Given the description of an element on the screen output the (x, y) to click on. 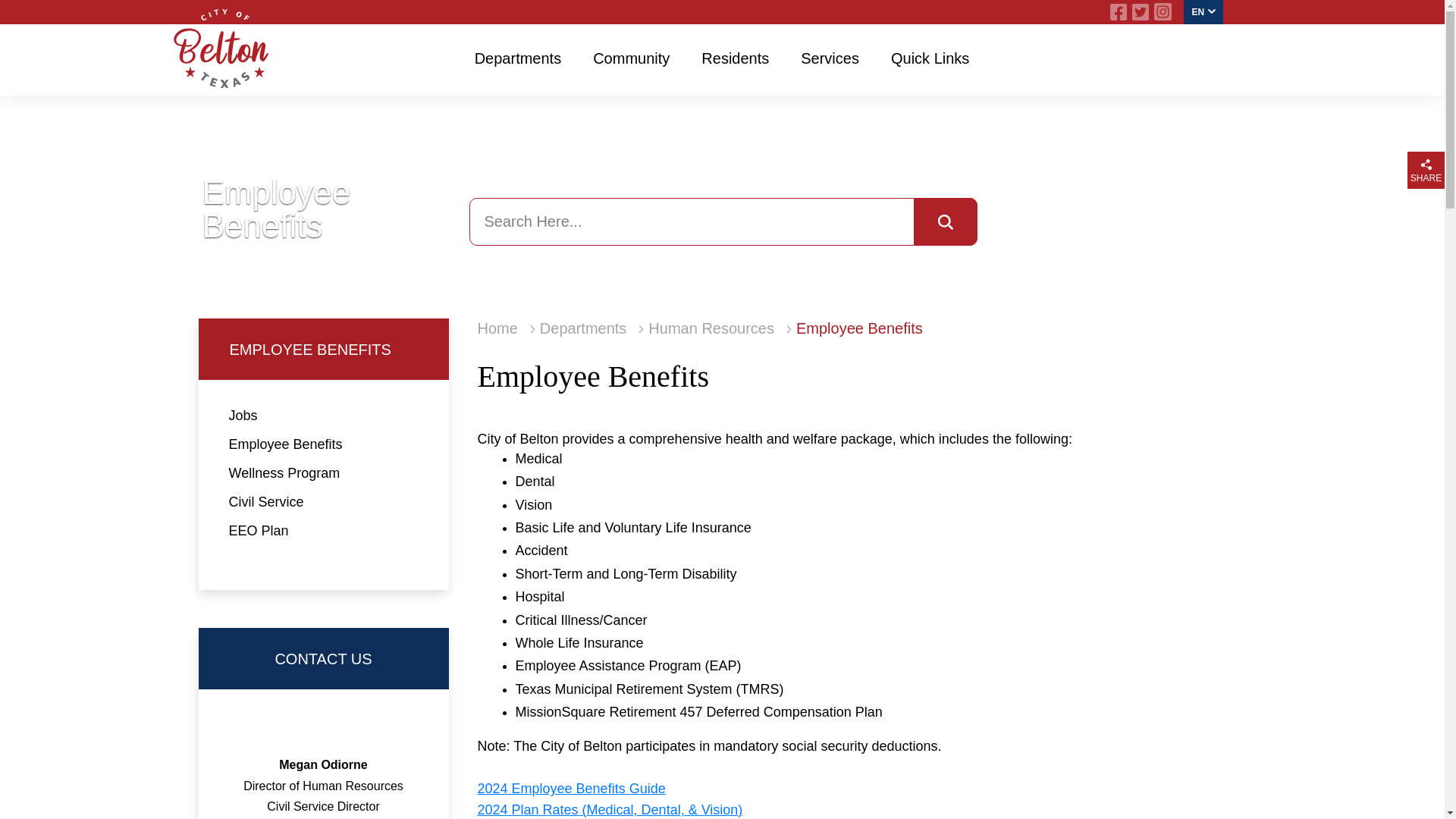
Twitter (1140, 12)
EN (1203, 12)
Facebook (1117, 12)
Instagram (1162, 12)
